Given the description of an element on the screen output the (x, y) to click on. 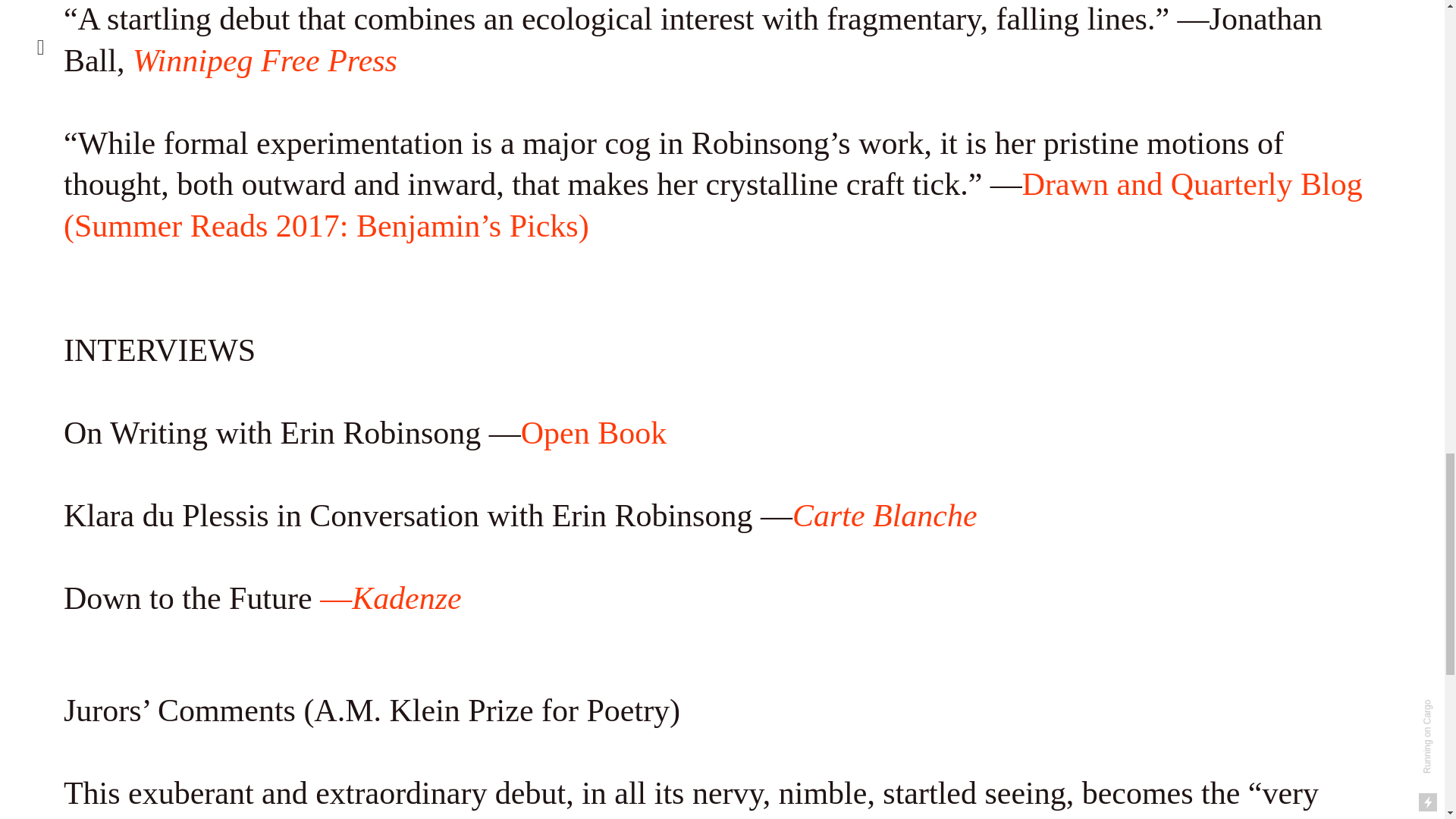
Open Book (593, 434)
Carte Blanche (884, 516)
Winnipeg Free Press (264, 62)
